Given the description of an element on the screen output the (x, y) to click on. 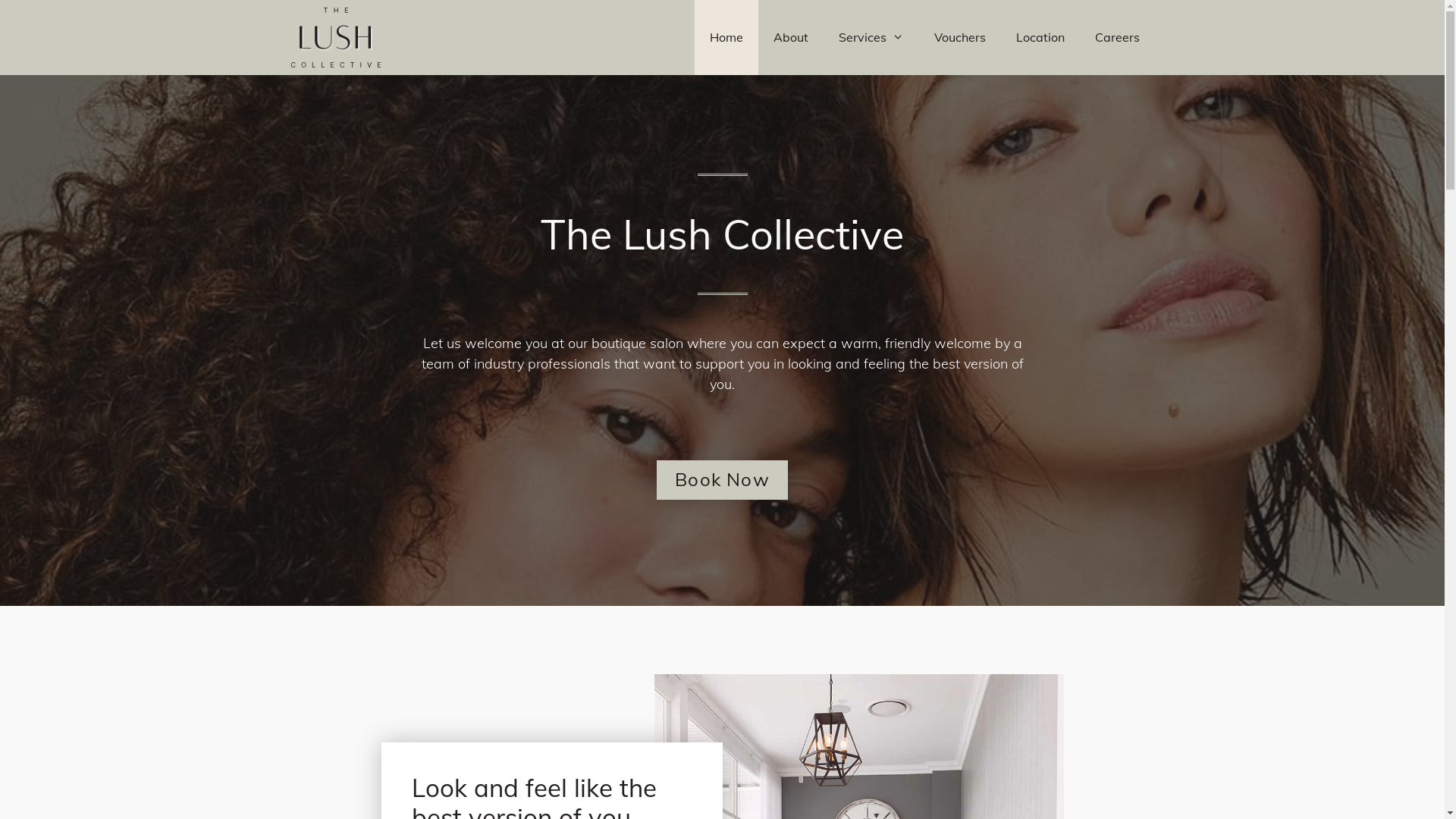
Book Now Element type: text (721, 479)
Location Element type: text (1040, 37)
Lush Collective Hair & Skin Element type: hover (334, 37)
Careers Element type: text (1116, 37)
About Element type: text (790, 37)
Services Element type: text (871, 37)
Home Element type: text (726, 37)
Lush Collective Hair & Skin Element type: hover (338, 37)
Vouchers Element type: text (960, 37)
